Given the description of an element on the screen output the (x, y) to click on. 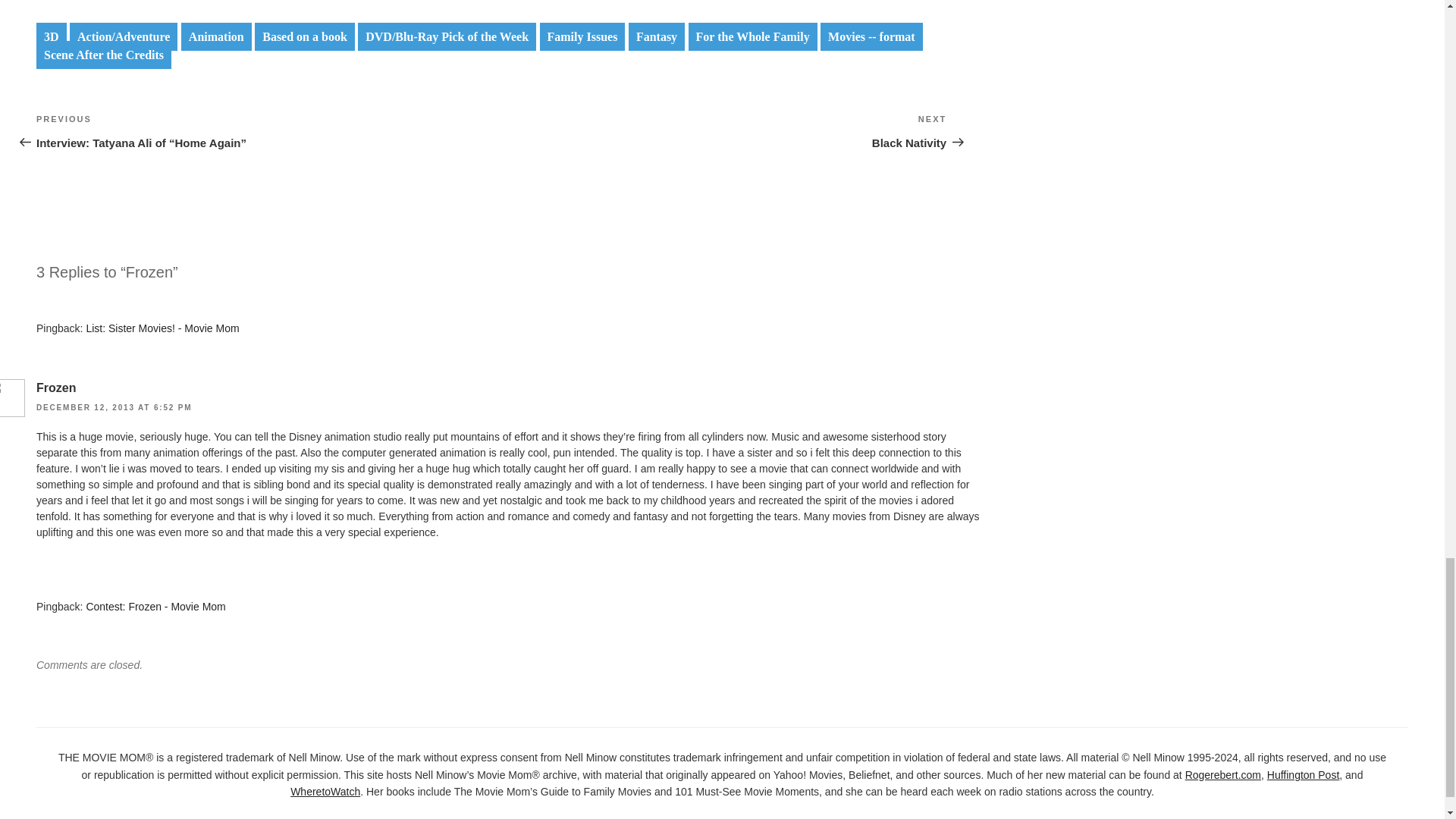
Movies -- format (872, 36)
Animation (215, 36)
Rogerebert.com (1222, 775)
Based on a book (304, 36)
DECEMBER 12, 2013 AT 6:52 PM (114, 407)
List: Sister Movies! - Movie Mom (161, 328)
WheretoWatch (719, 131)
Contest: Frozen - Movie Mom (324, 791)
Fantasy (155, 606)
Huffington Post (656, 36)
Family Issues (1302, 775)
3D (583, 36)
Scene After the Credits (51, 36)
For the Whole Family (103, 54)
